Given the description of an element on the screen output the (x, y) to click on. 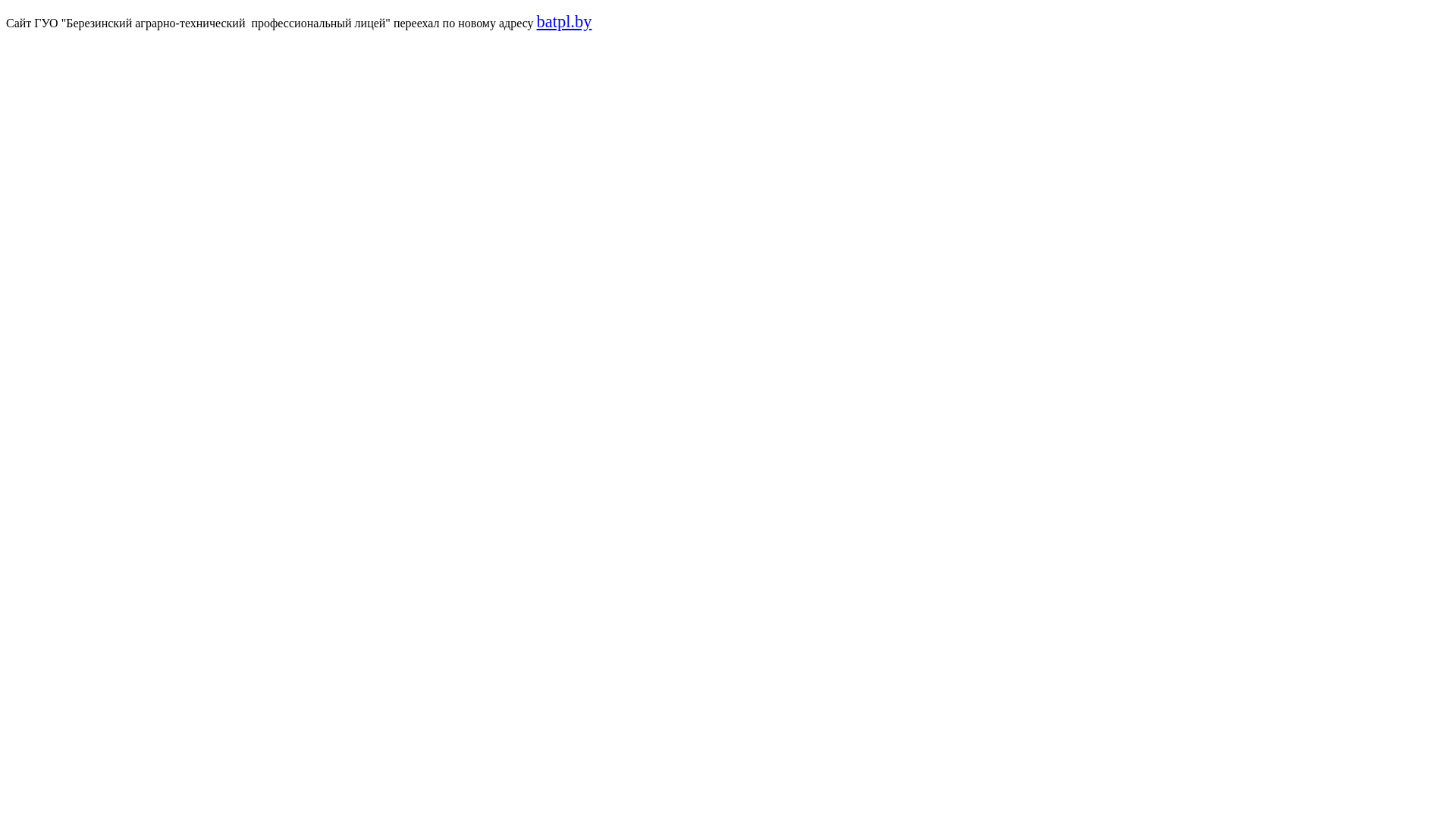
batpl.by Element type: text (564, 21)
